Given the description of an element on the screen output the (x, y) to click on. 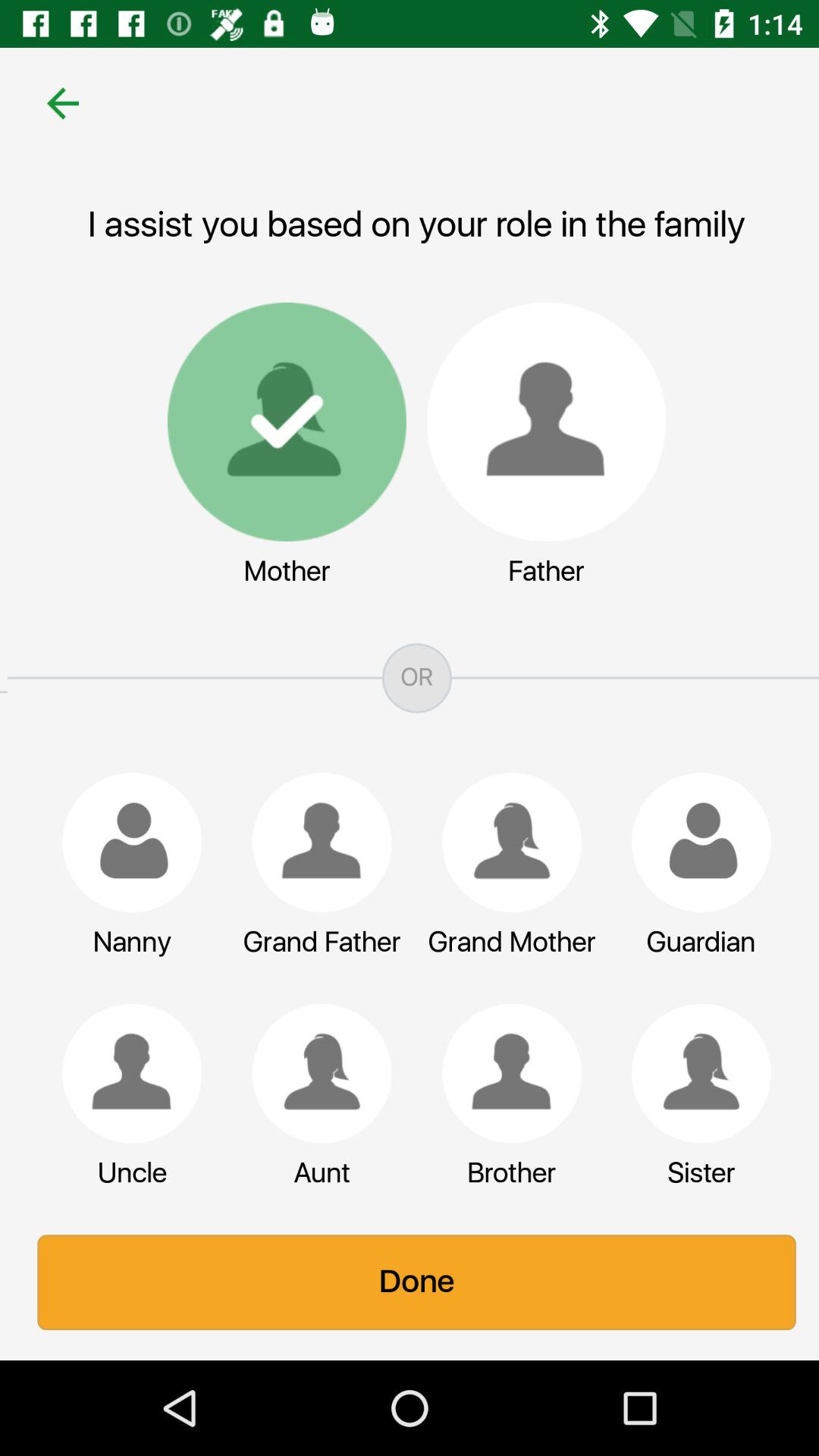
click the contact (314, 842)
